Given the description of an element on the screen output the (x, y) to click on. 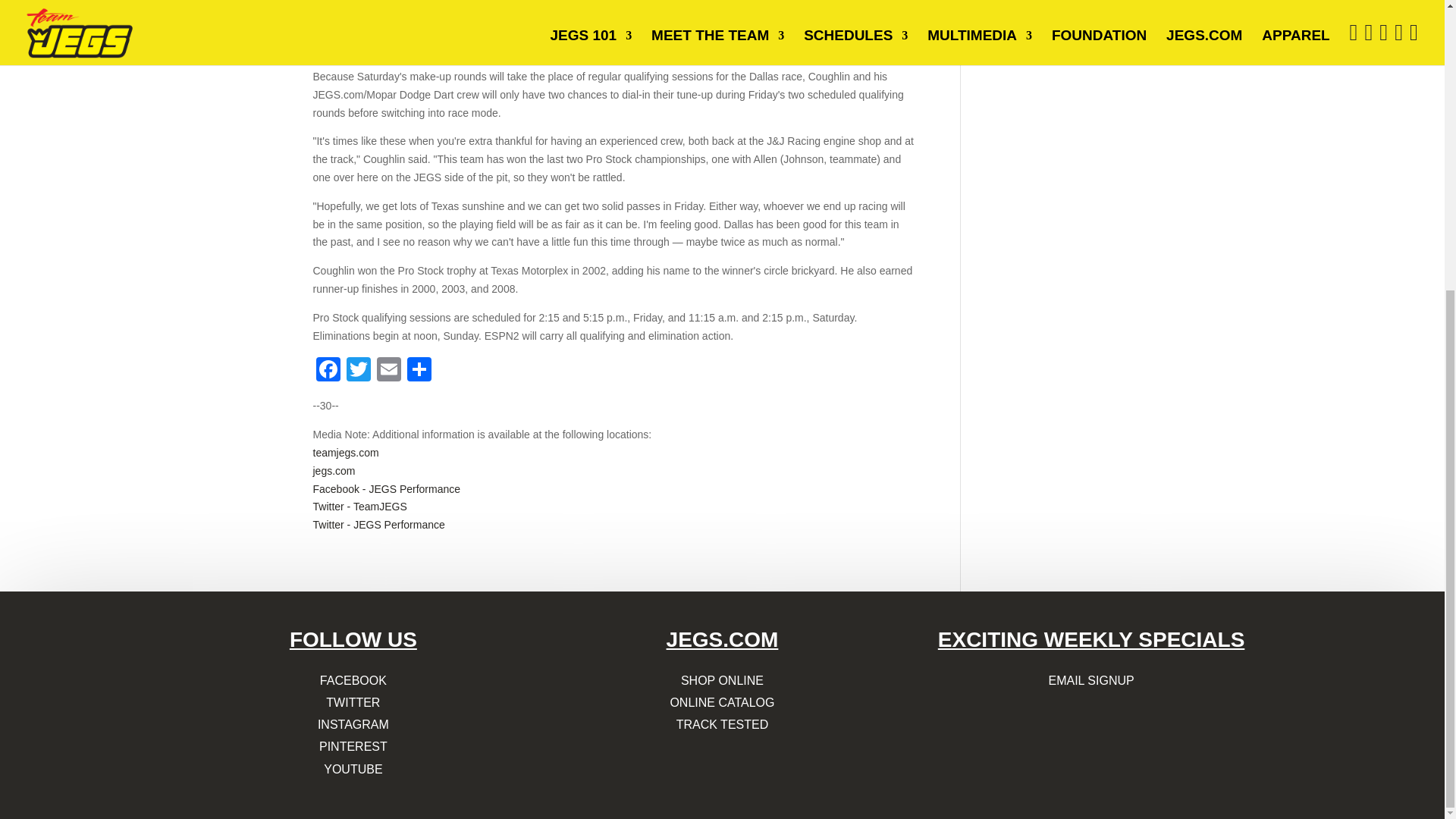
Facebook (327, 370)
Twitter (357, 370)
Email (387, 370)
